Given the description of an element on the screen output the (x, y) to click on. 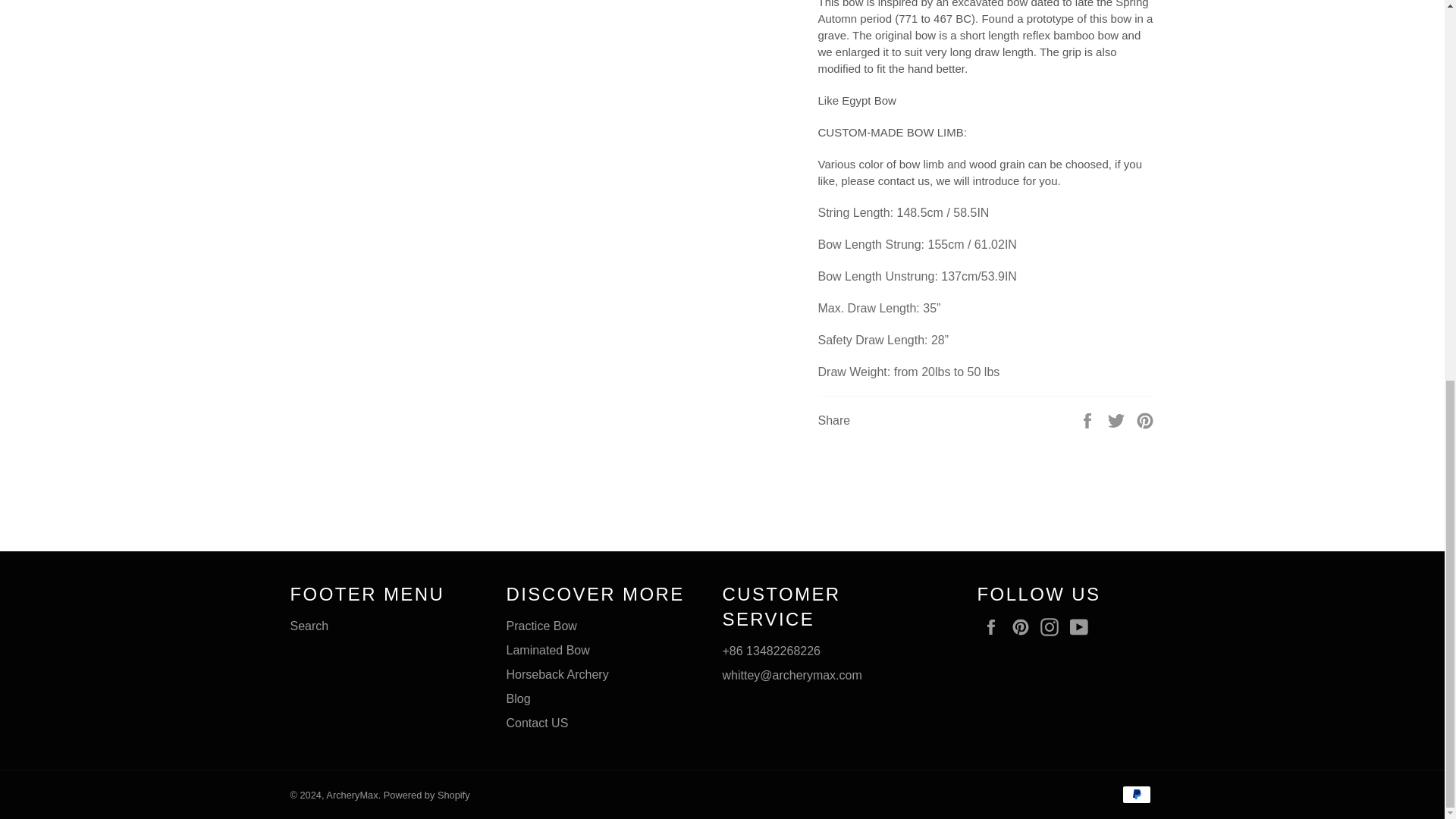
Share on Facebook (1088, 420)
Pin on Pinterest (1144, 420)
ArcheryMax on Pinterest (1023, 627)
ArcheryMax on Facebook (994, 627)
ArcheryMax on Instagram (1053, 627)
News (518, 698)
Alibow  Tang "Dunhuang" Laminated bow (547, 649)
ArcheryMax on YouTube (1083, 627)
CONTACT (537, 722)
Tweet on Twitter (1117, 420)
